Given the description of an element on the screen output the (x, y) to click on. 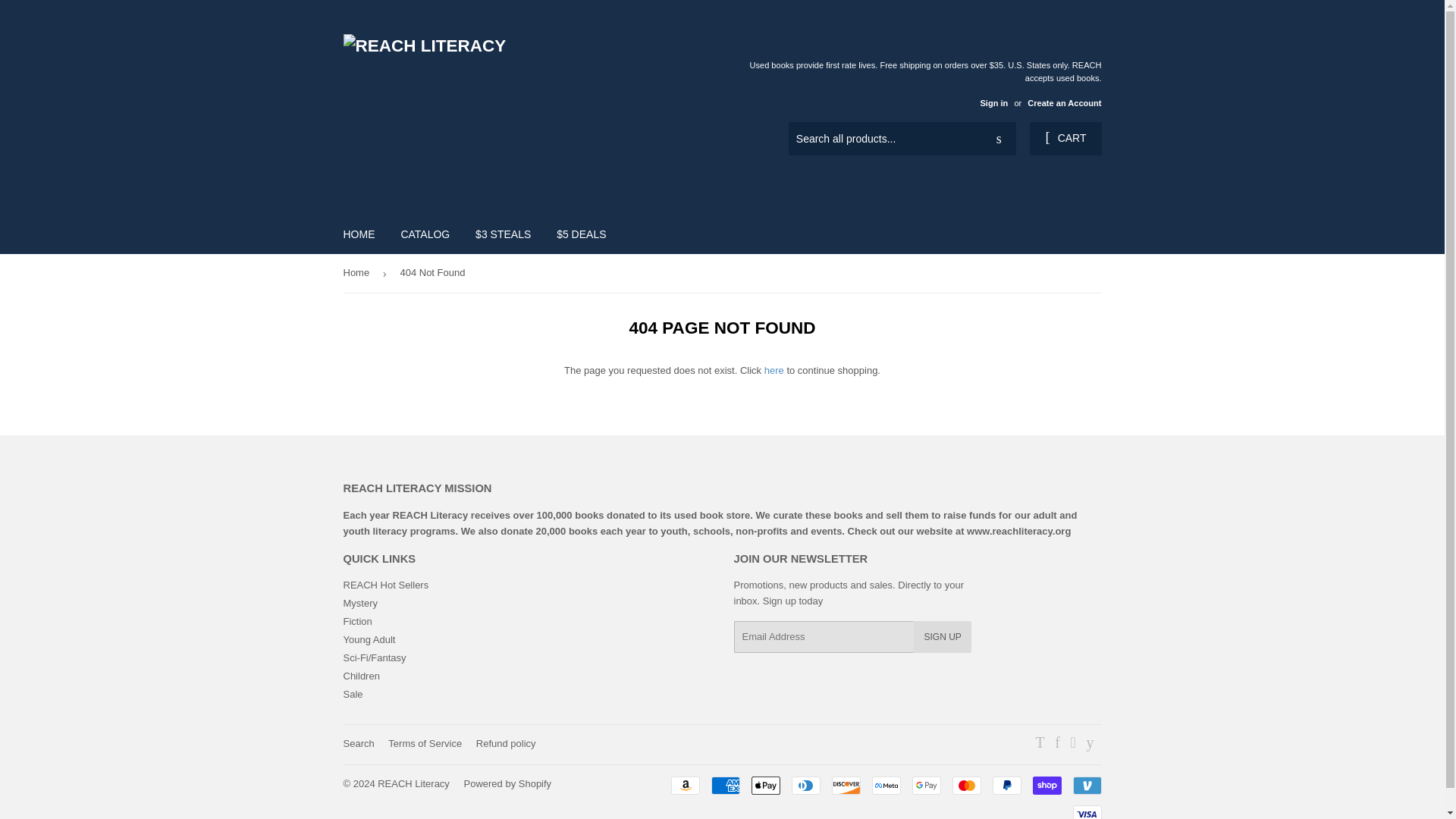
Terms of Service (424, 743)
HOME (359, 233)
Mastercard (966, 785)
Refund policy (505, 743)
Shop Pay (1046, 785)
CART (1064, 138)
Children (360, 675)
Create an Account (1063, 102)
Google Pay (925, 785)
www.reachliteracy.org (1018, 531)
SIGN UP (942, 636)
Sign in (993, 102)
Search (358, 743)
Venmo (1085, 785)
CATALOG (424, 233)
